Given the description of an element on the screen output the (x, y) to click on. 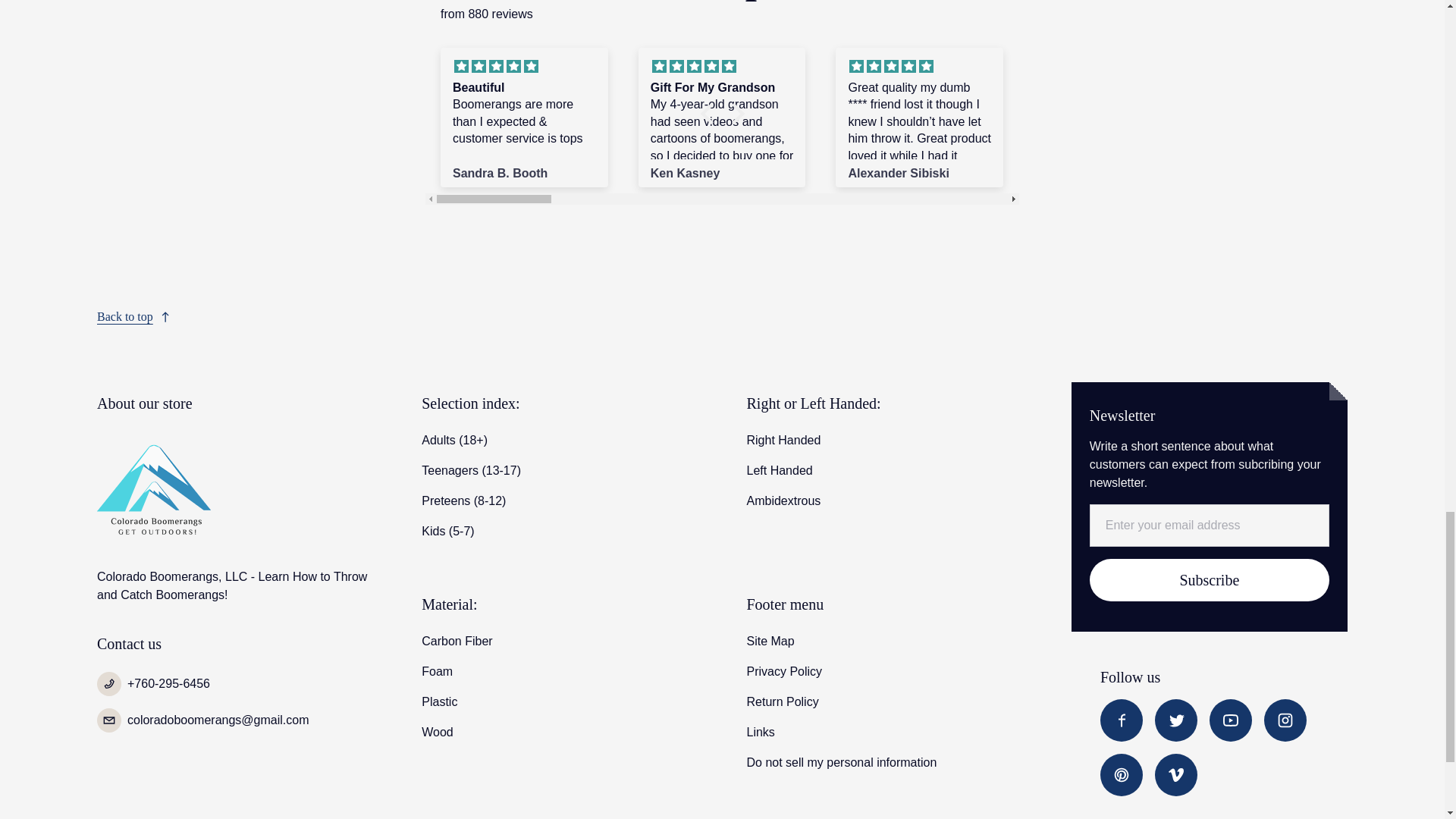
Vimeo (1175, 774)
Youtube (1230, 720)
Instagram (1284, 720)
Pinterest (1121, 774)
Twitter (1175, 720)
